Given the description of an element on the screen output the (x, y) to click on. 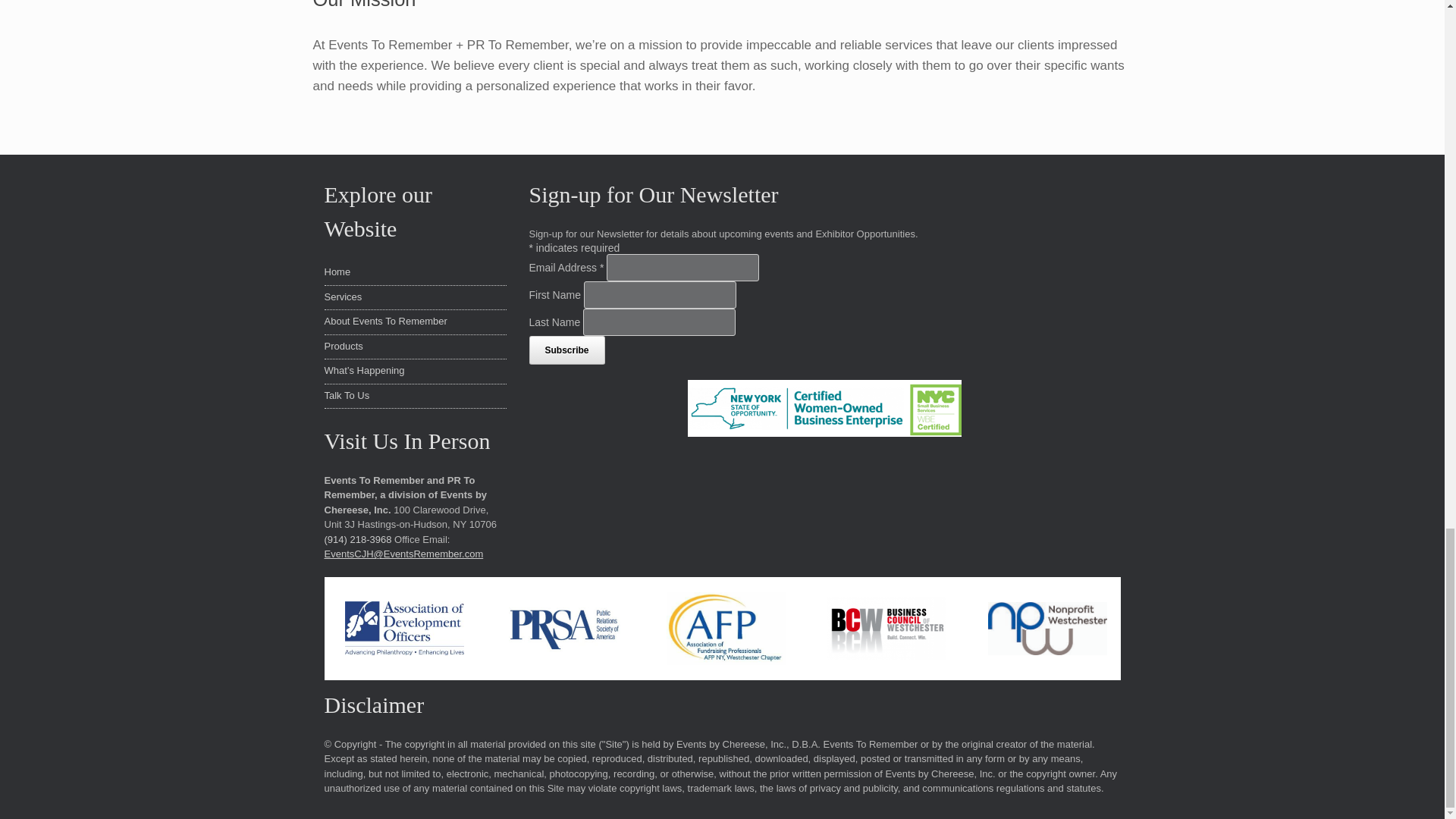
Subscribe (567, 349)
About Events To Remember (385, 320)
Subscribe (567, 349)
Home (337, 271)
Products (343, 346)
Talk To Us (346, 395)
Services (343, 296)
